Given the description of an element on the screen output the (x, y) to click on. 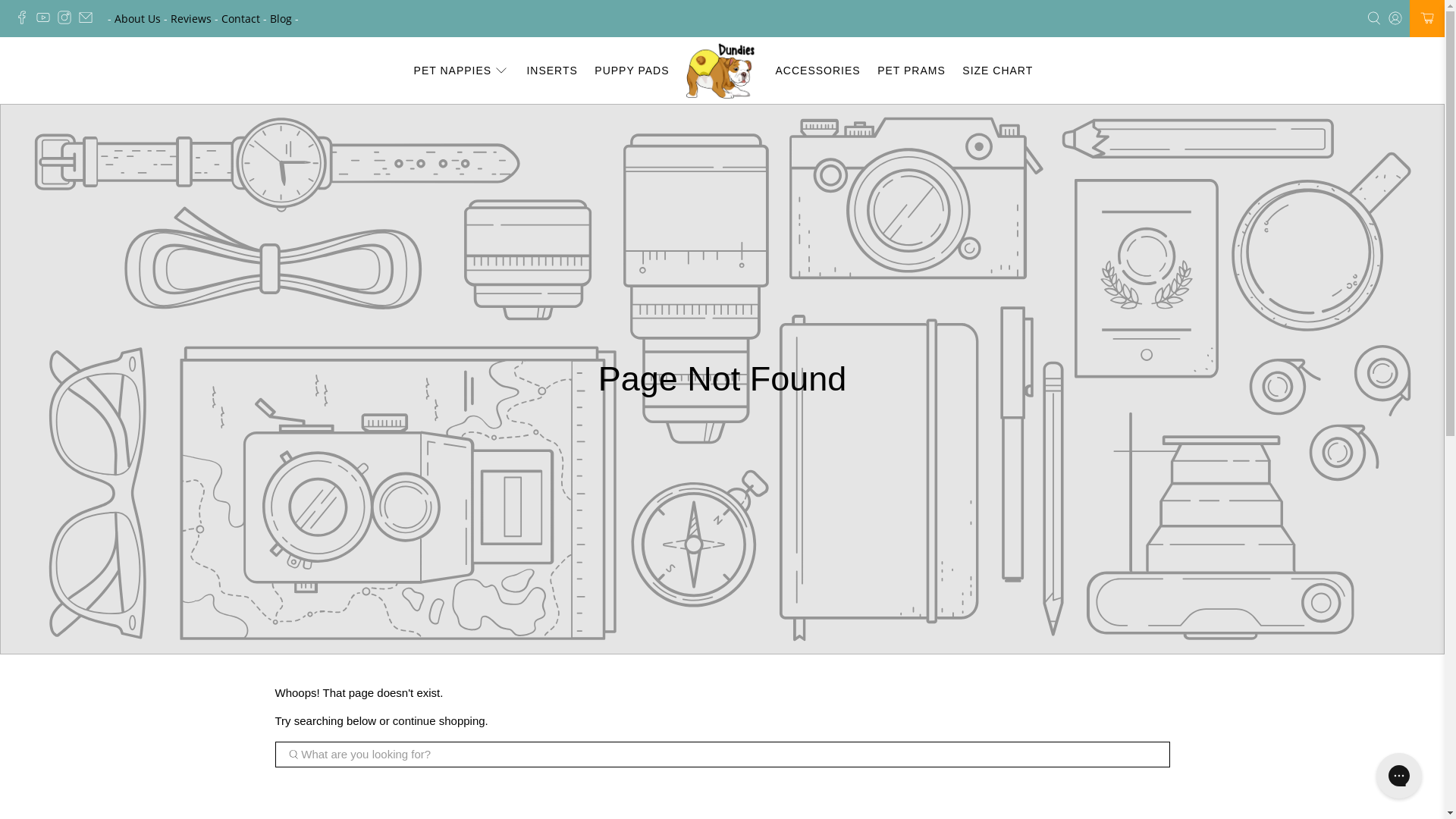
Reviews Element type: text (190, 18)
INSERTS Element type: text (551, 70)
Contact Element type: text (240, 18)
continue shopping Element type: text (438, 720)
PET PRAMS Element type: text (911, 70)
Dundies Pty Ltd on Instagram Element type: hover (67, 19)
PUPPY PADS Element type: text (631, 70)
Dundies Pty Ltd on YouTube Element type: hover (46, 19)
Blog Element type: text (280, 18)
SIZE CHART Element type: text (997, 70)
Dundies Pty Ltd on Facebook Element type: hover (25, 19)
About Us Element type: text (137, 18)
Email Dundies Pty Ltd Element type: hover (89, 19)
Dundies Pty Ltd Element type: hover (722, 70)
ACCESSORIES Element type: text (817, 70)
PET NAPPIES Element type: text (460, 70)
Gorgias live chat messenger Element type: hover (1398, 775)
